Given the description of an element on the screen output the (x, y) to click on. 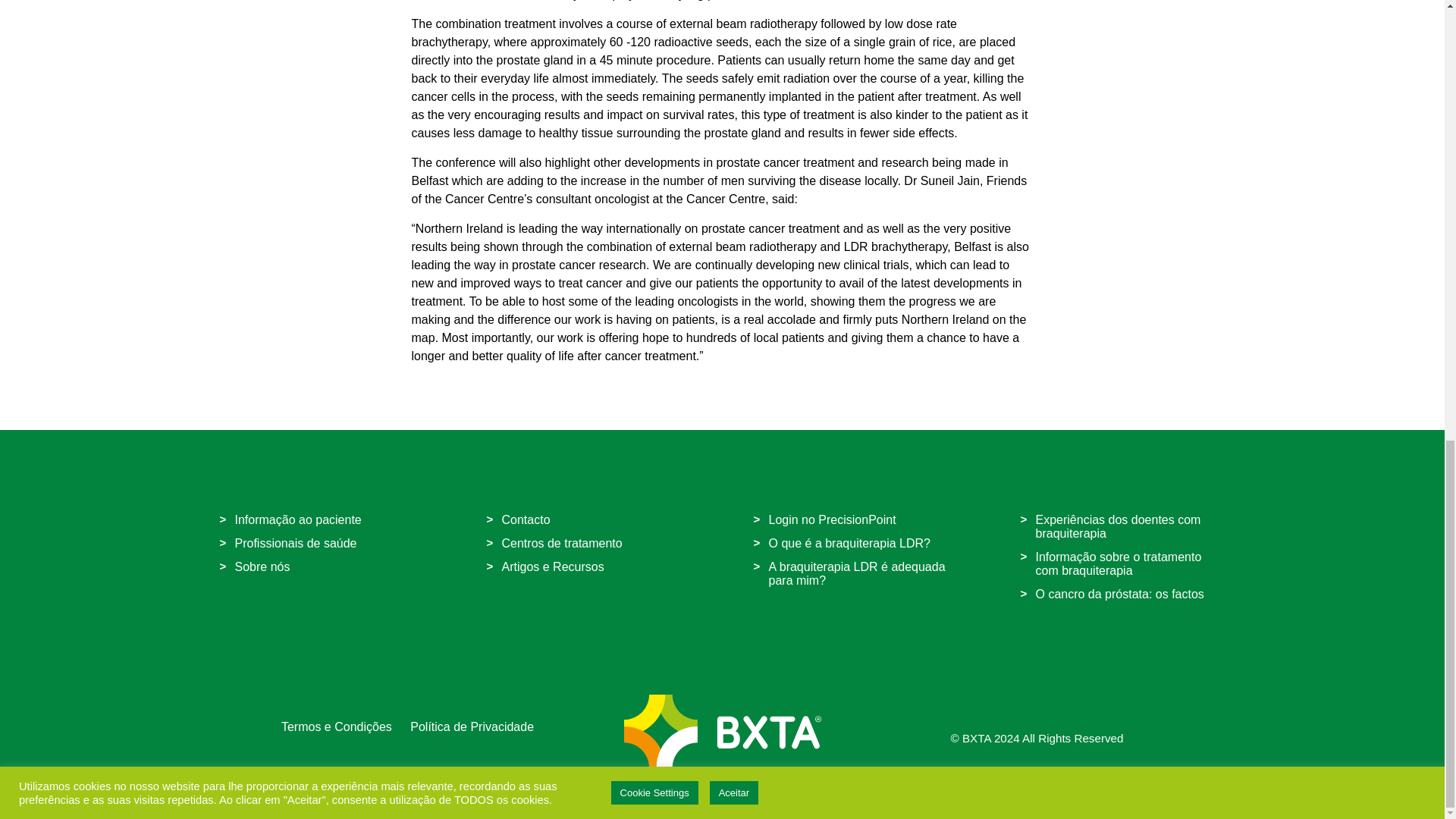
Incaloop (785, 788)
